Given the description of an element on the screen output the (x, y) to click on. 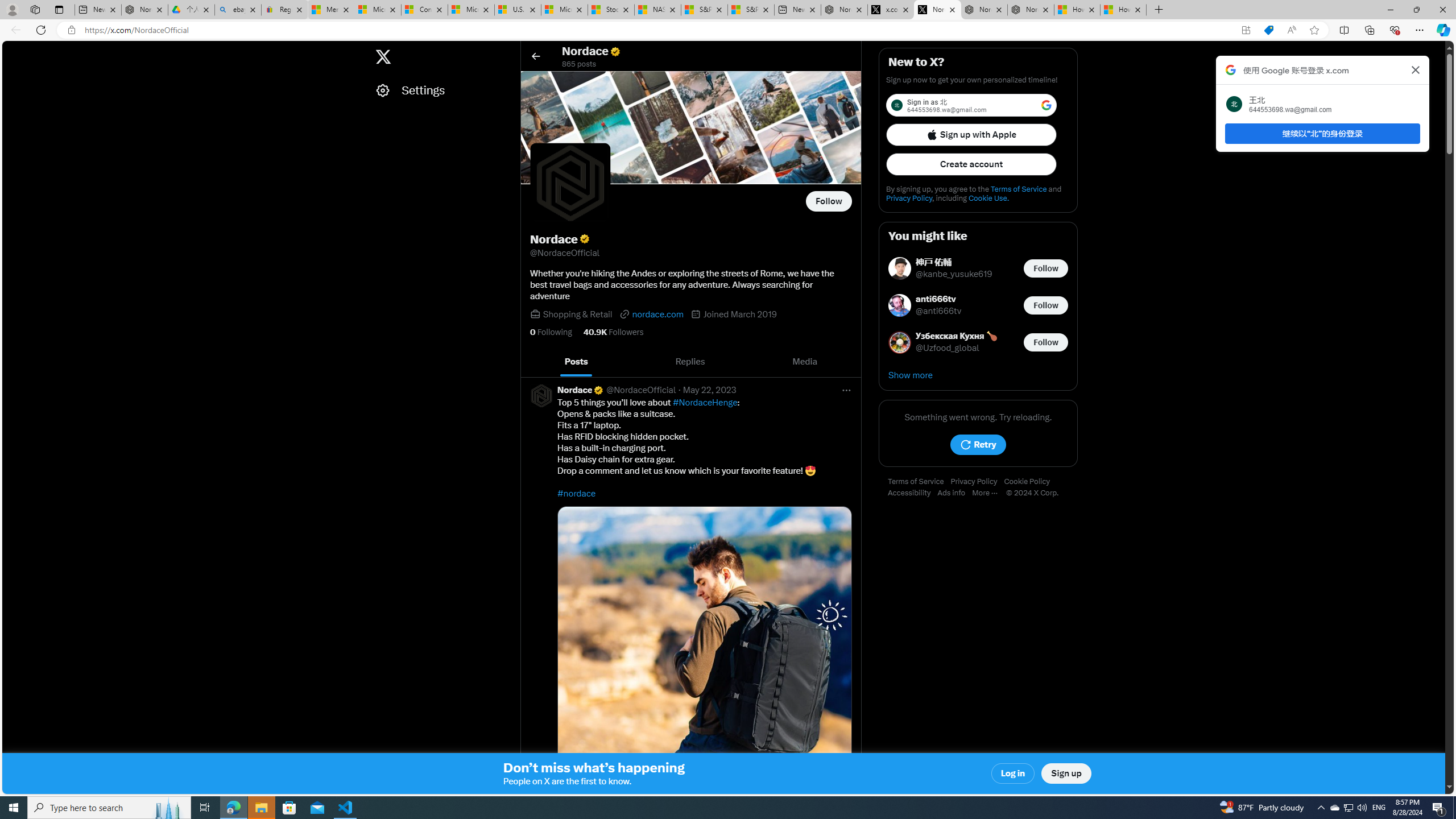
Accessibility (912, 492)
Class: Bz112c Bz112c-r9oPif (1415, 69)
@kanbe_yusuke619 (953, 274)
@NordaceOfficial (640, 389)
Square profile picture (541, 395)
Follow @anti666tv (1045, 304)
App available. Install X (1245, 29)
Nordace (@NordaceOfficial) / X (858, 9)
Follow @NordaceOfficial (828, 201)
anti666tv (938, 299)
Create account (971, 164)
